Given the description of an element on the screen output the (x, y) to click on. 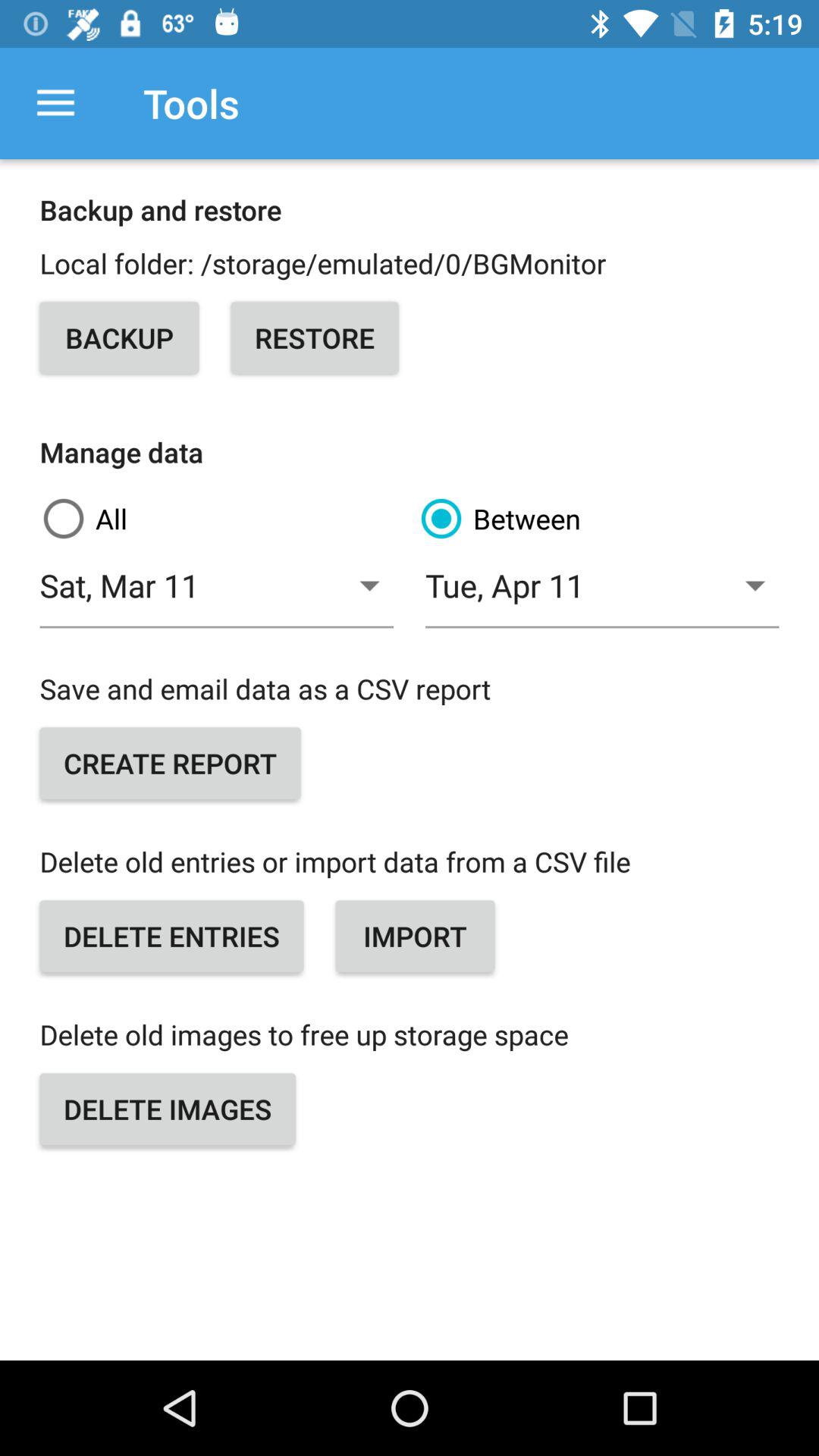
select item next to all icon (598, 518)
